Given the description of an element on the screen output the (x, y) to click on. 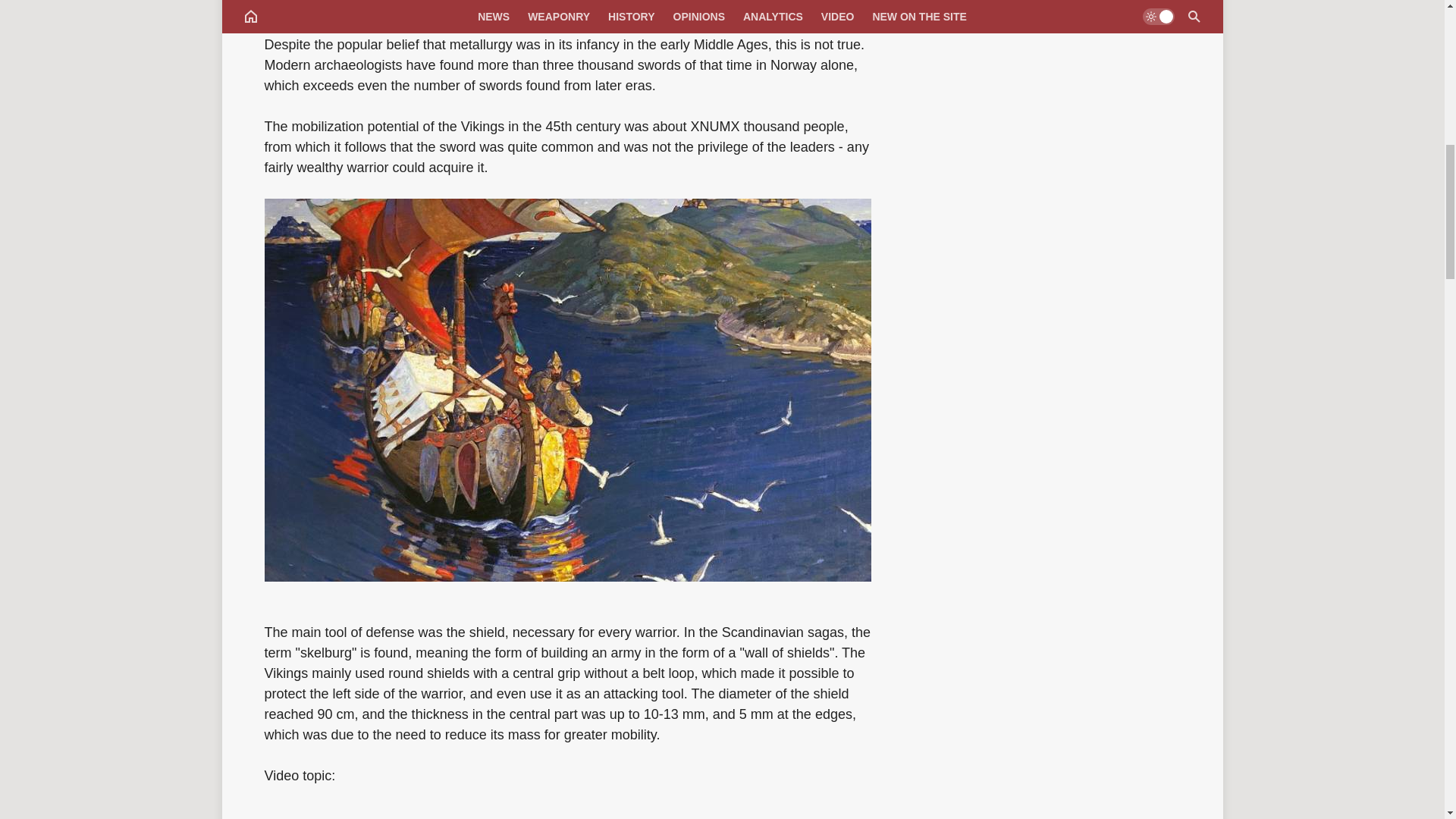
YouTube video player (567, 812)
